Given the description of an element on the screen output the (x, y) to click on. 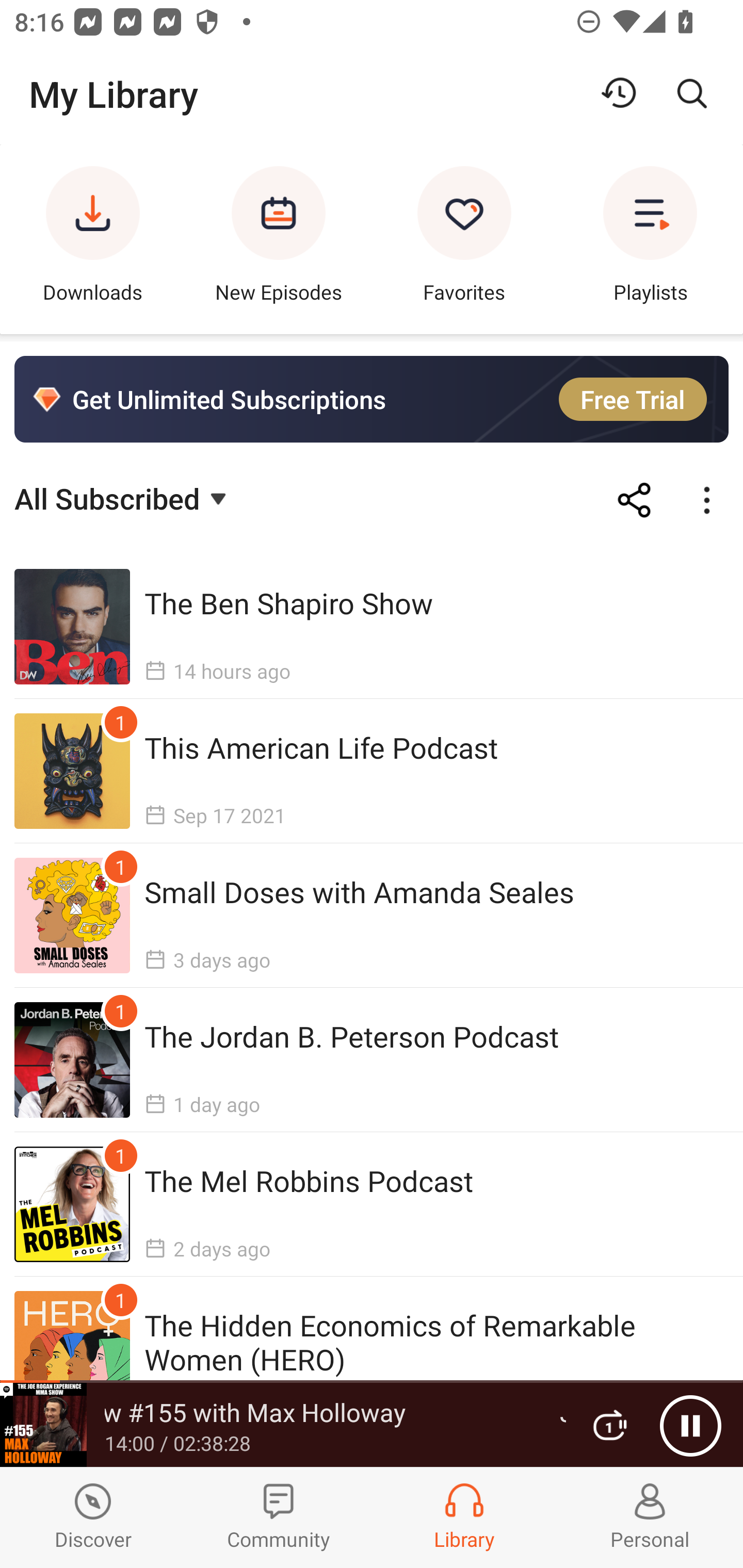
Downloads (92, 238)
New Episodes (278, 238)
Favorites (464, 238)
Playlists (650, 238)
Get Unlimited Subscriptions Free Trial (371, 398)
Free Trial (632, 398)
All Subscribed (123, 497)
Pause (690, 1425)
Discover (92, 1517)
Community (278, 1517)
Library (464, 1517)
Profiles and Settings Personal (650, 1517)
